Given the description of an element on the screen output the (x, y) to click on. 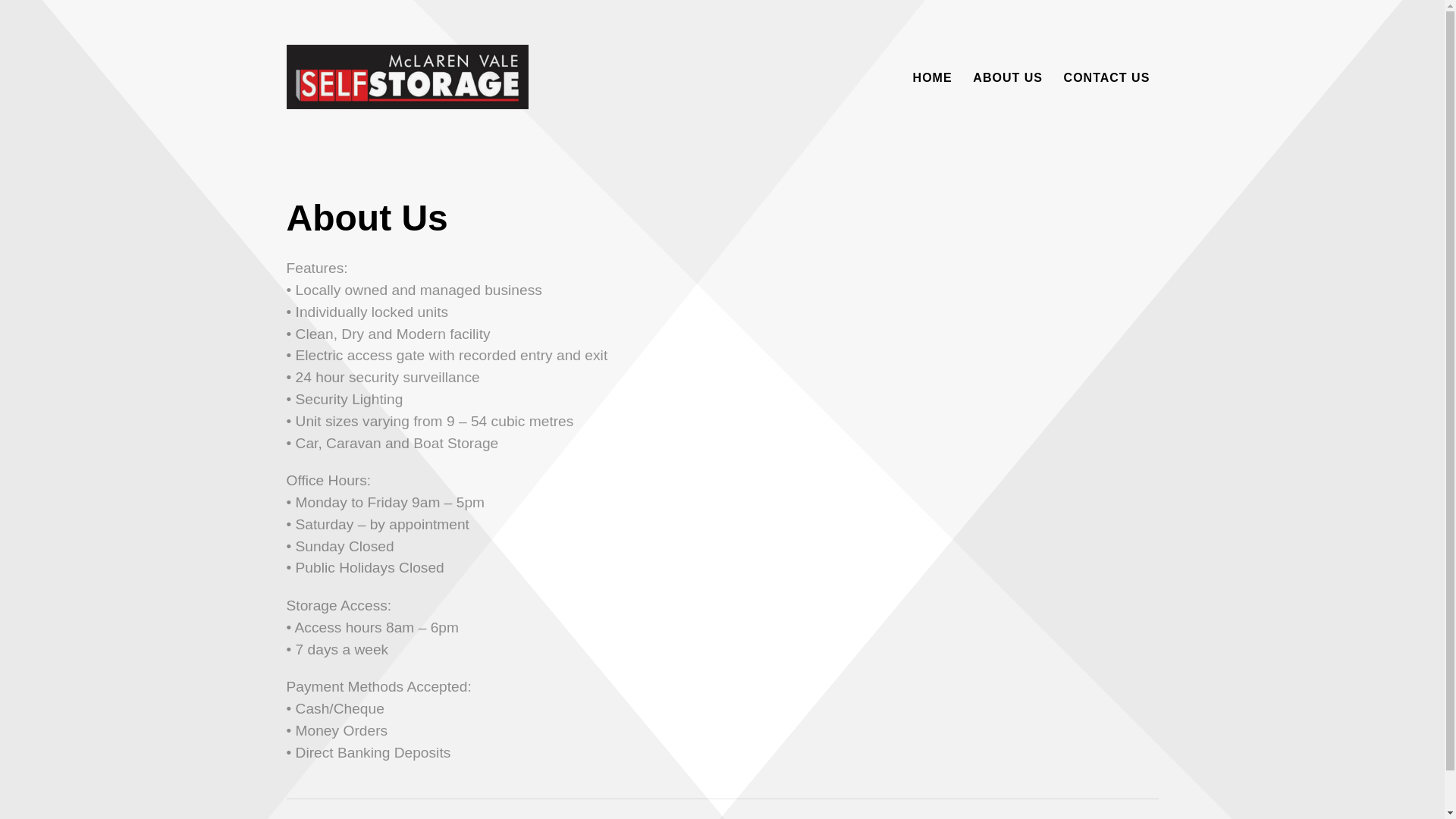
HOME Element type: text (932, 77)
ABOUT US Element type: text (1007, 77)
CONTACT US Element type: text (1106, 77)
